Given the description of an element on the screen output the (x, y) to click on. 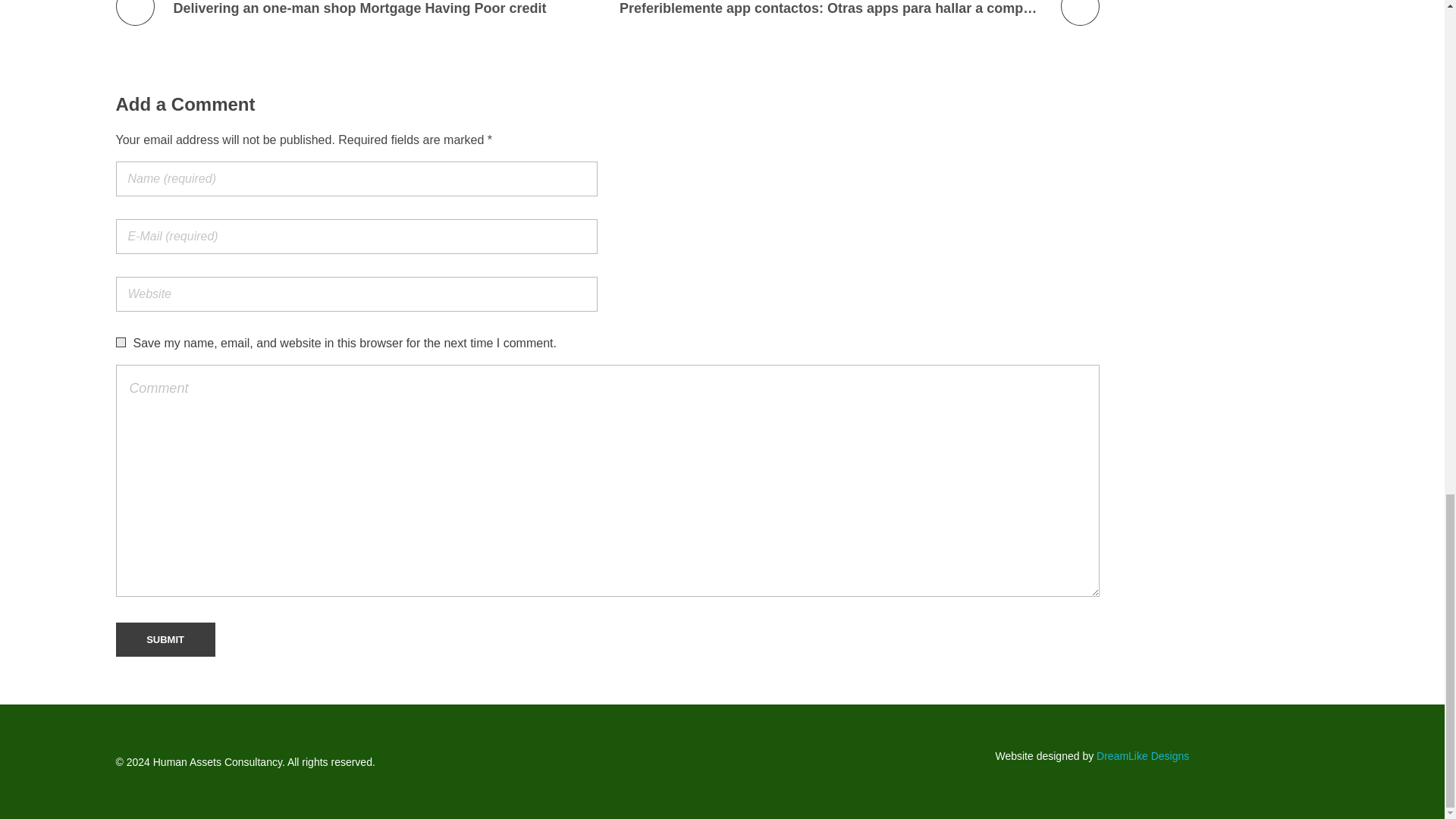
DreamLike Designs (1142, 756)
Submit (164, 639)
Submit (164, 639)
yes (120, 342)
